Given the description of an element on the screen output the (x, y) to click on. 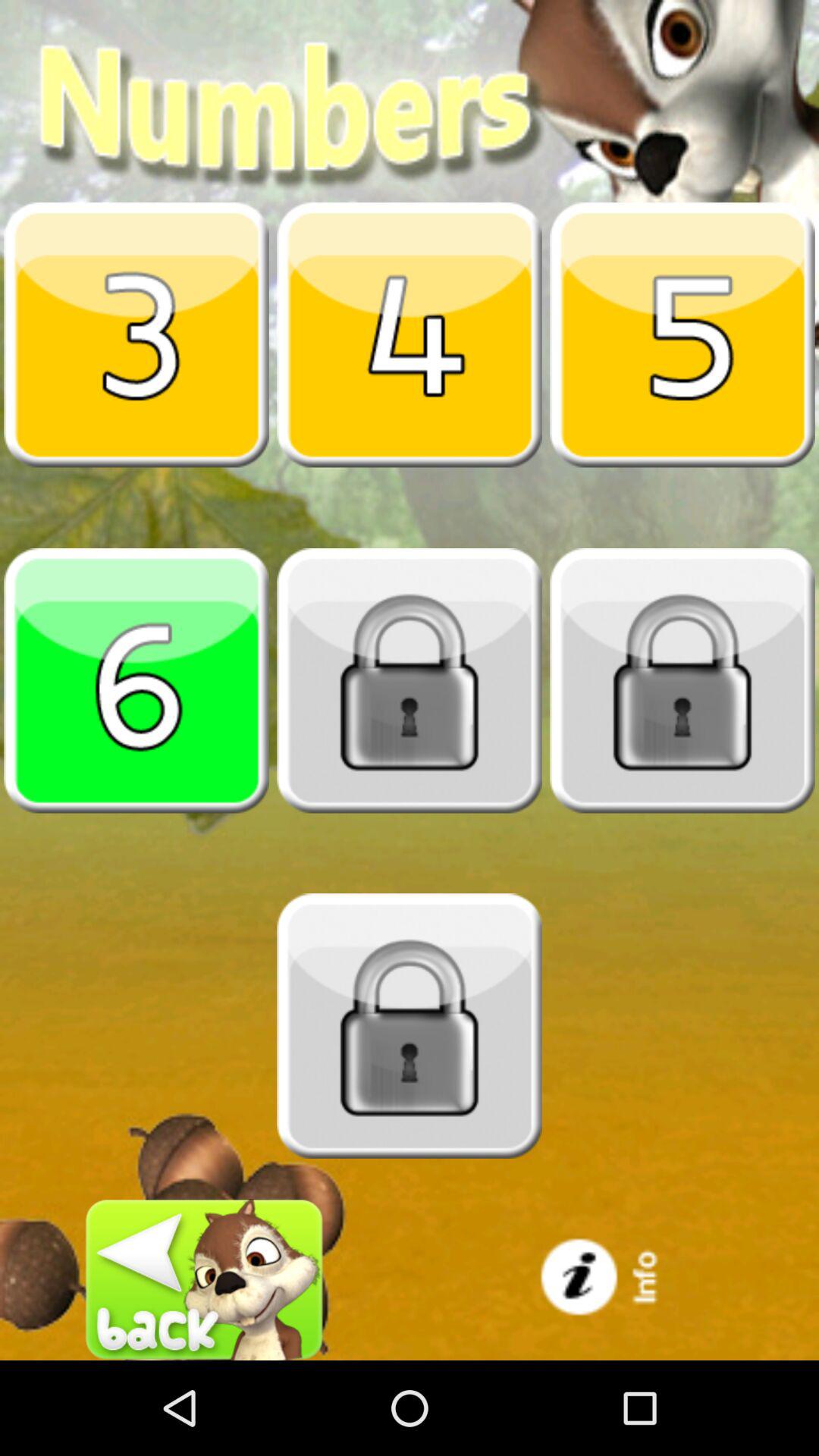
5 (682, 334)
